Given the description of an element on the screen output the (x, y) to click on. 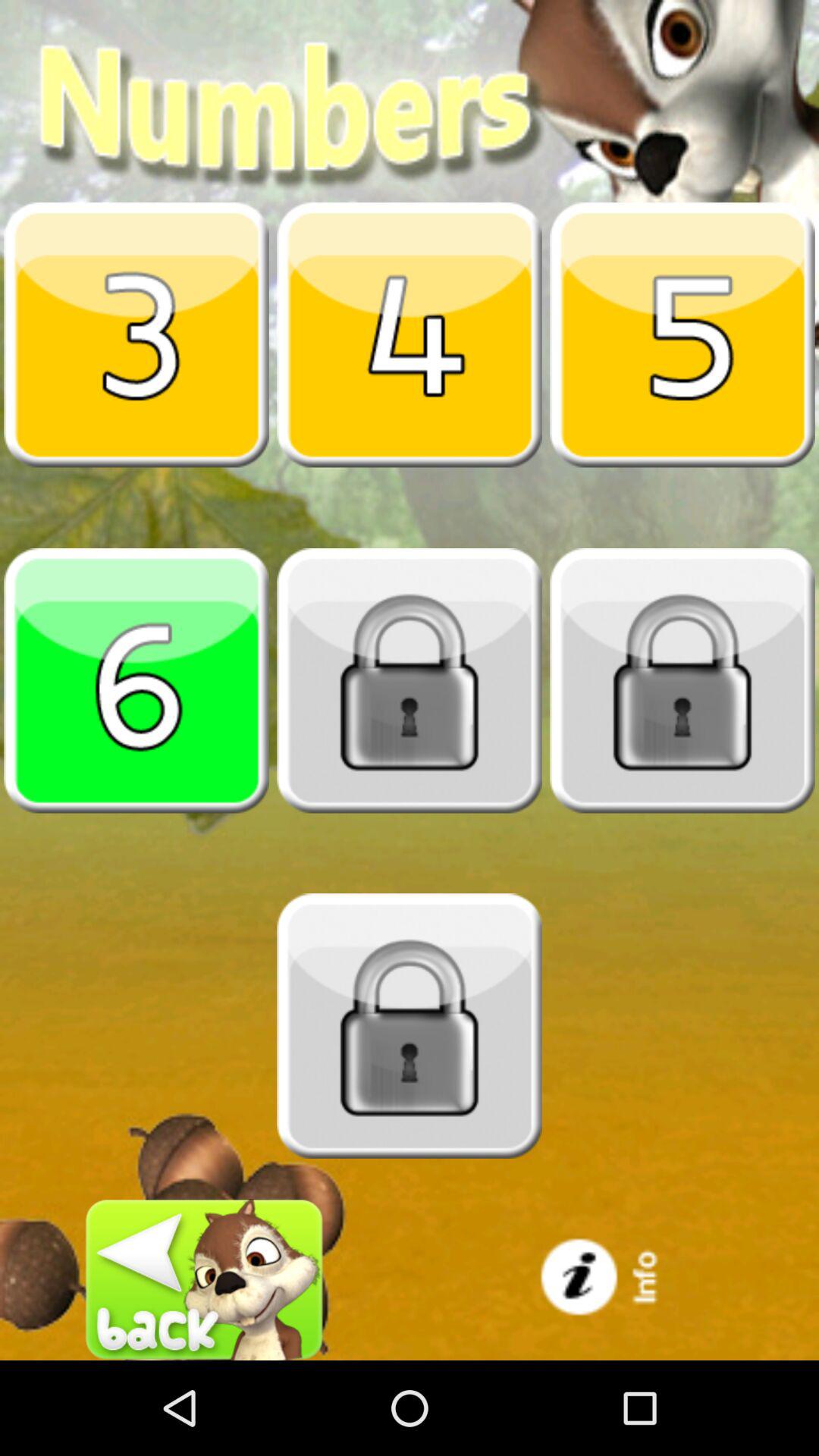
5 (682, 334)
